Given the description of an element on the screen output the (x, y) to click on. 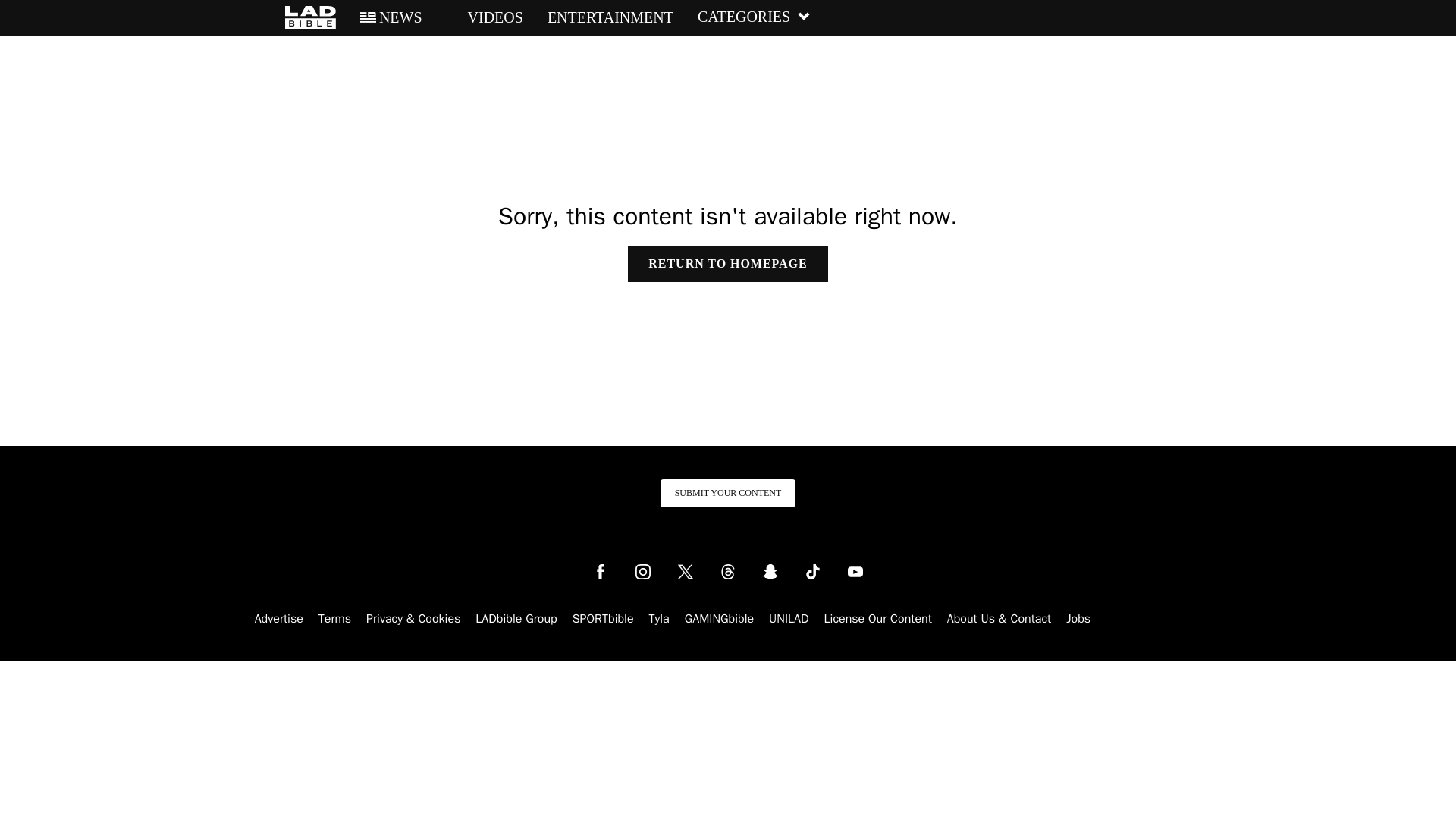
VIDEOS (484, 17)
Advertise (278, 618)
NEWS (390, 17)
CATEGORIES (753, 17)
ENTERTAINMENT (609, 17)
RETURN TO HOMEPAGE (727, 263)
